Given the description of an element on the screen output the (x, y) to click on. 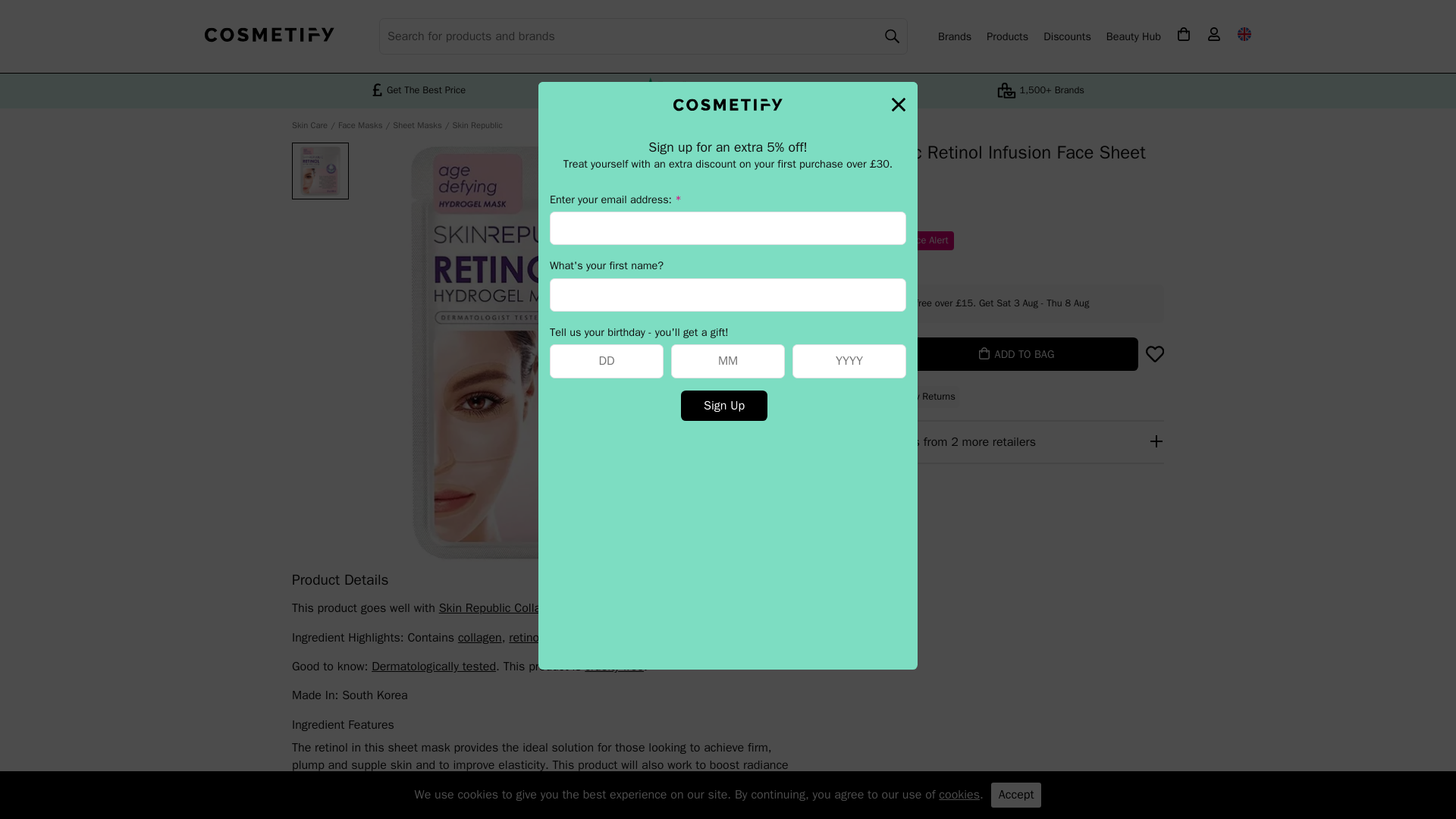
cookies (959, 794)
Brands (954, 36)
Beauty Hub (1133, 36)
Accept (1016, 794)
Products (1007, 36)
Discounts (1066, 36)
